Given the description of an element on the screen output the (x, y) to click on. 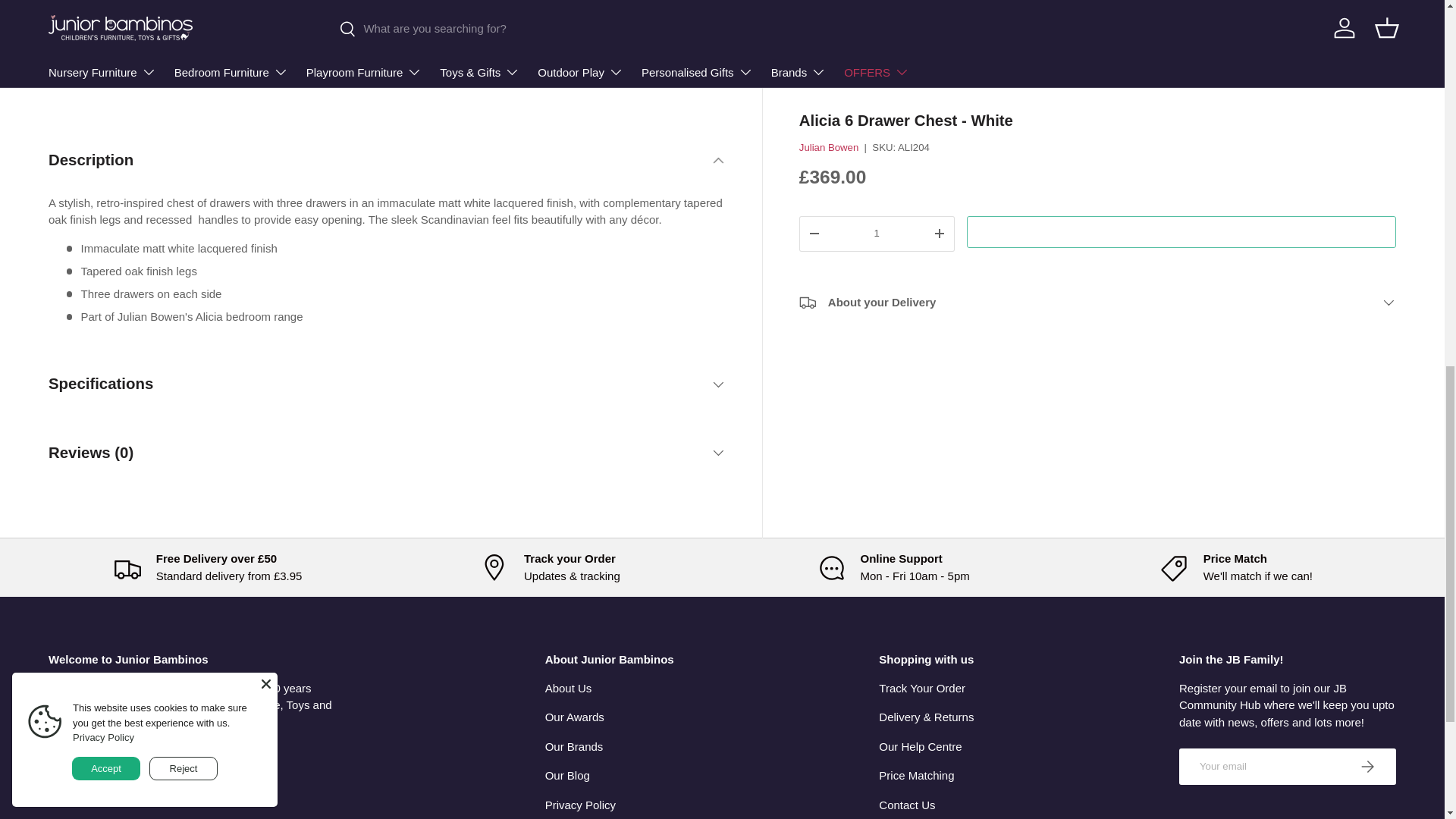
Junior Bambinos on Facebook (57, 761)
Junior Bambinos on Instagram (124, 761)
Junior Bambinos on Pinterest (191, 761)
Junior Bambinos on YouTube (90, 761)
Junior Bambinos on LinkedIn (258, 761)
Junior Bambinos on Twitter (224, 761)
Junior Bambinos on TikTok (157, 761)
